Given the description of an element on the screen output the (x, y) to click on. 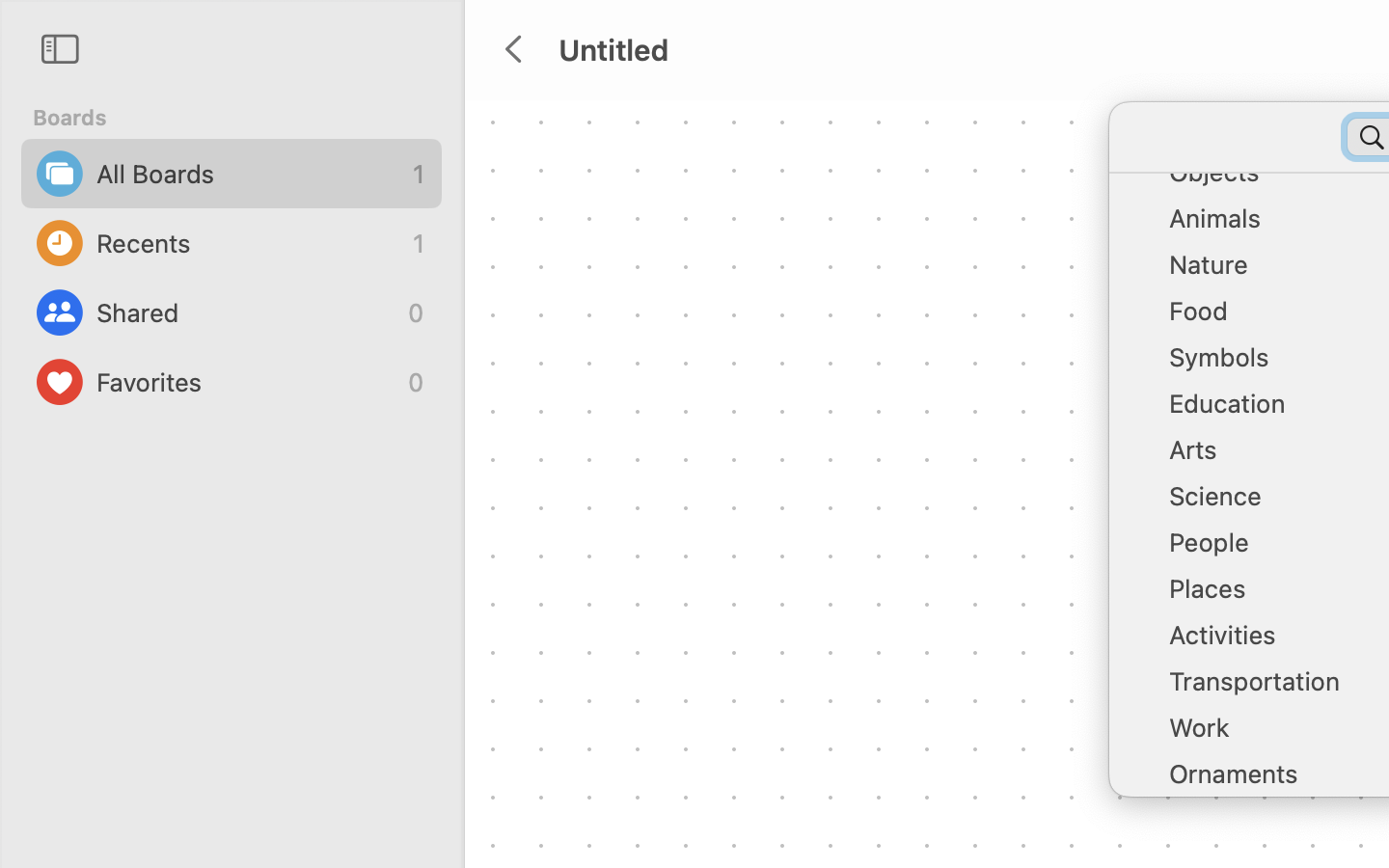
Favorites Element type: AXStaticText (246, 381)
Basic Element type: AXStaticText (1273, 86)
Animals Element type: AXStaticText (1273, 225)
